Given the description of an element on the screen output the (x, y) to click on. 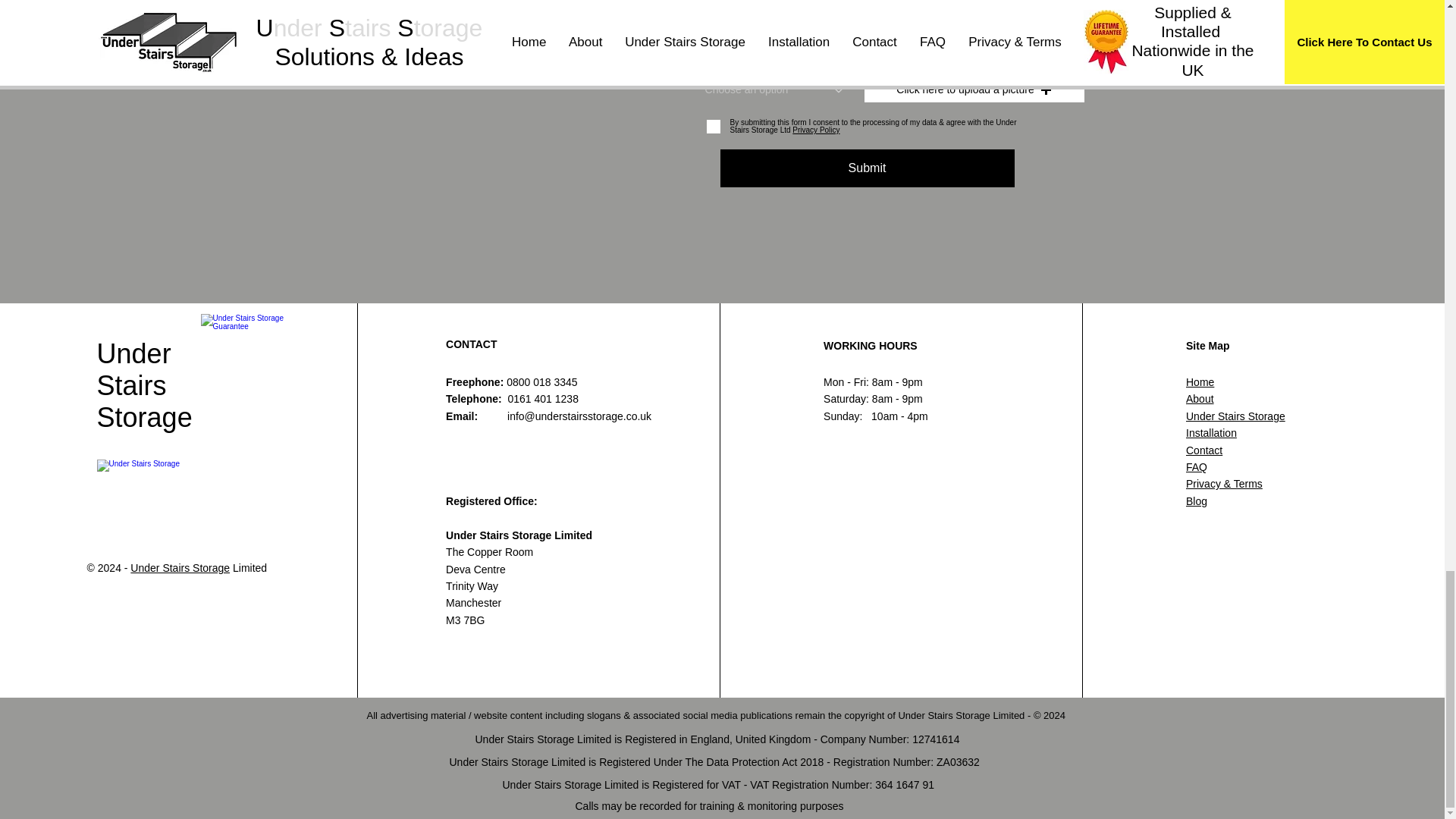
Privacy Policy (815, 130)
Home (1200, 381)
Under Stairs Storage Solutions and Ideas (175, 495)
About (1200, 398)
Submit (867, 168)
Under Stairs Storage (180, 567)
